Given the description of an element on the screen output the (x, y) to click on. 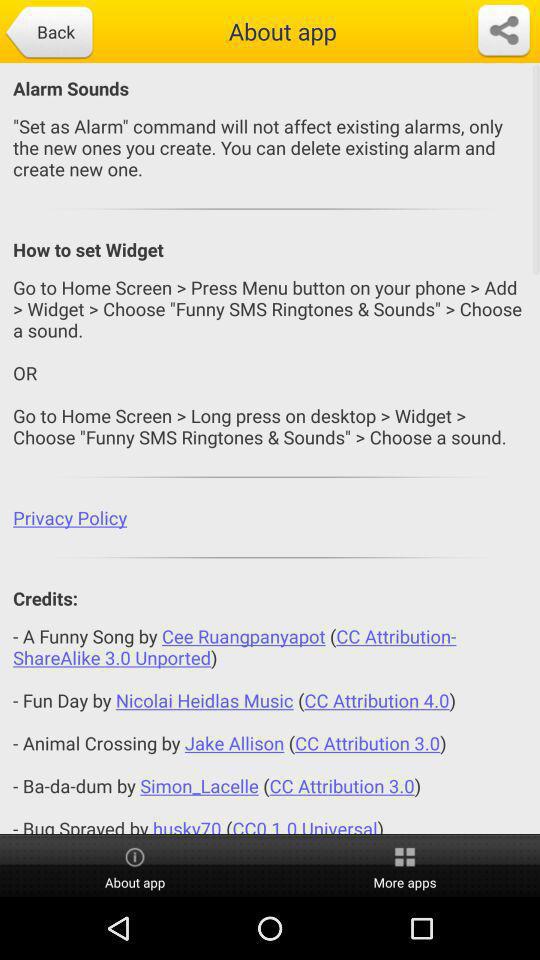
jump until the more apps icon (405, 866)
